Given the description of an element on the screen output the (x, y) to click on. 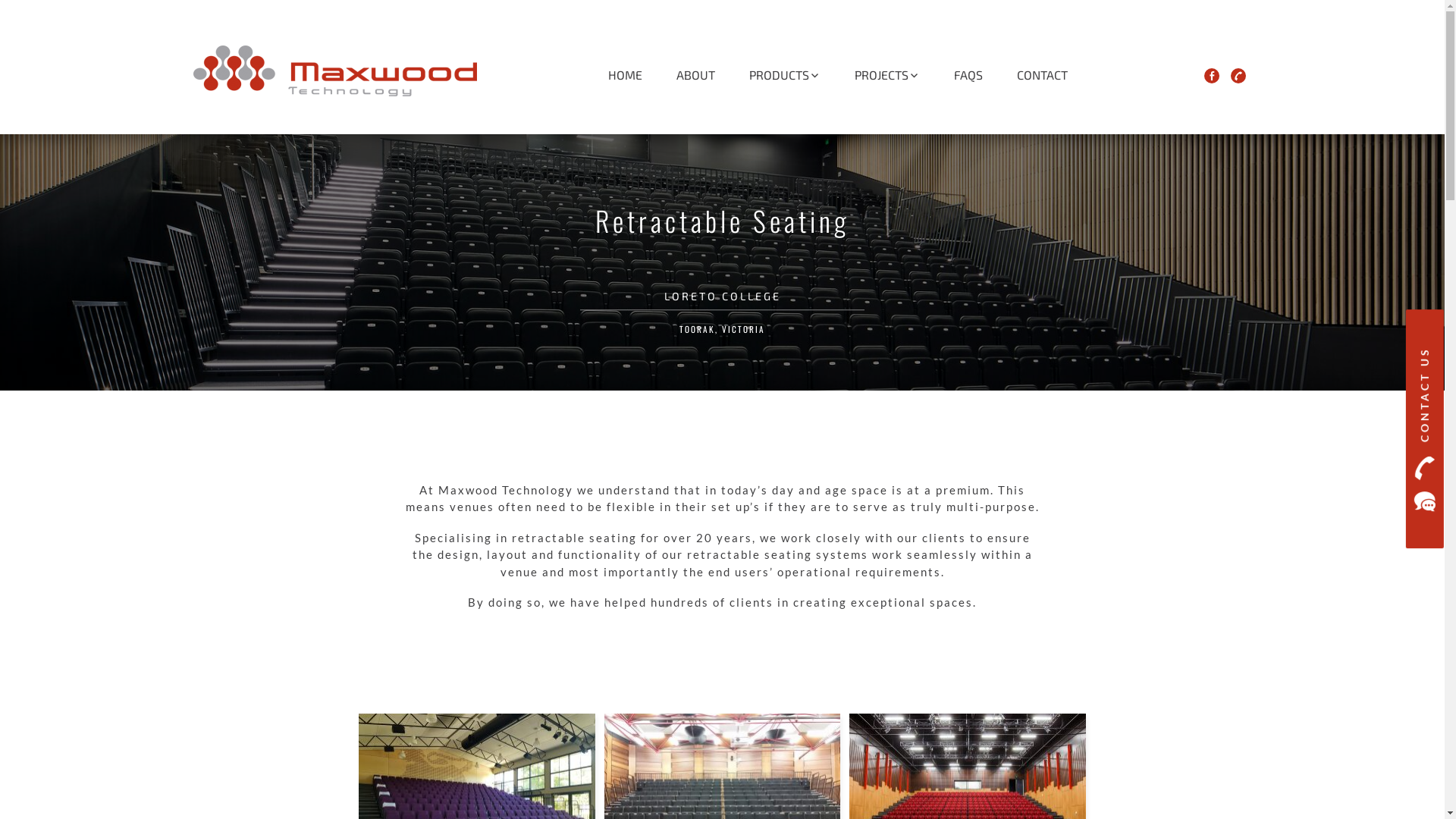
FAQS Element type: text (967, 74)
ABOUT Element type: text (695, 74)
PRODUCTS Element type: text (784, 74)
HOME Element type: text (625, 74)
CONTACT Element type: text (1041, 74)
PROJECTS Element type: text (886, 74)
